Given the description of an element on the screen output the (x, y) to click on. 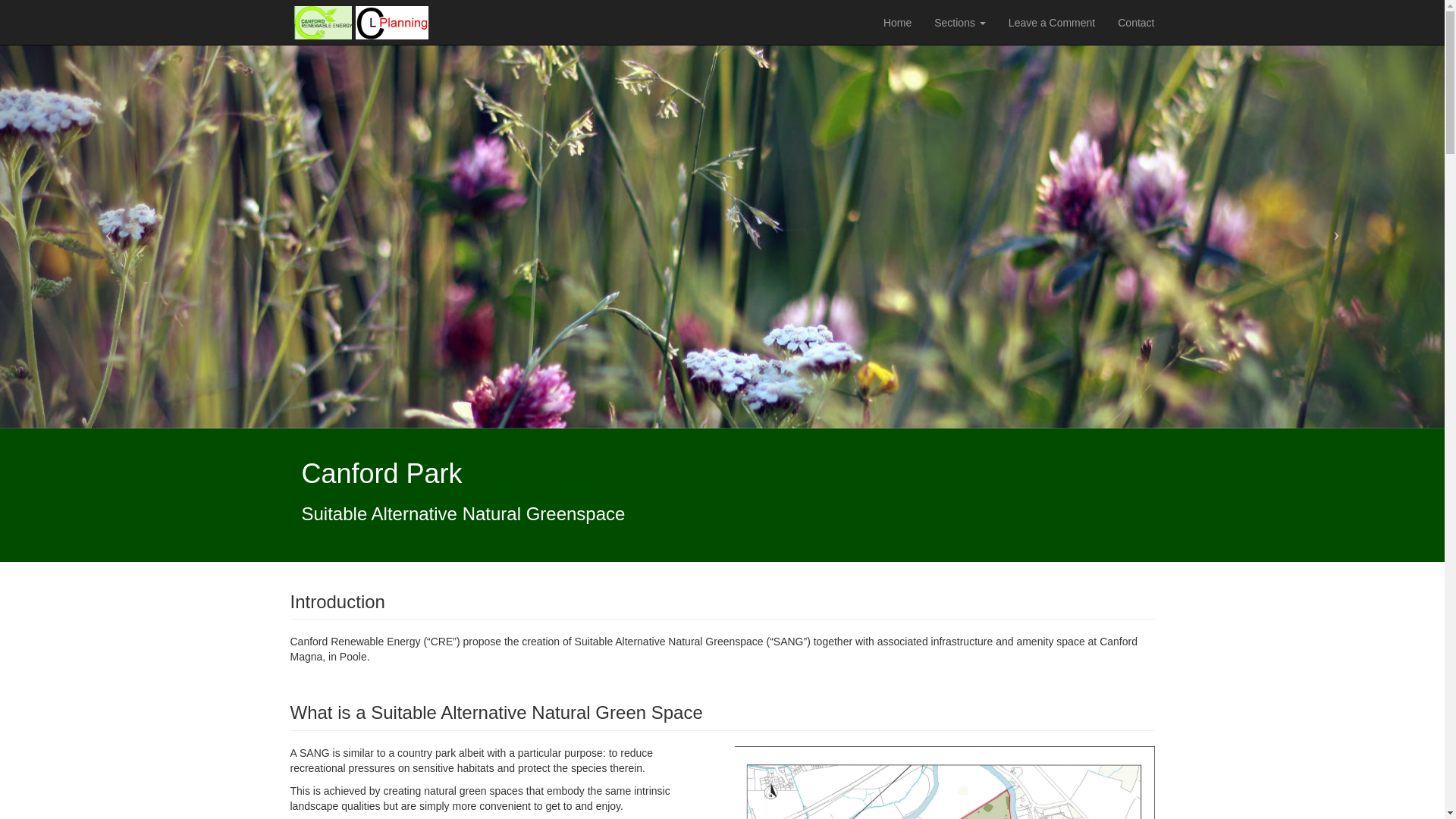
Home (897, 22)
Sections (960, 22)
Leave a Comment (1051, 22)
Contact (1136, 22)
